Given the description of an element on the screen output the (x, y) to click on. 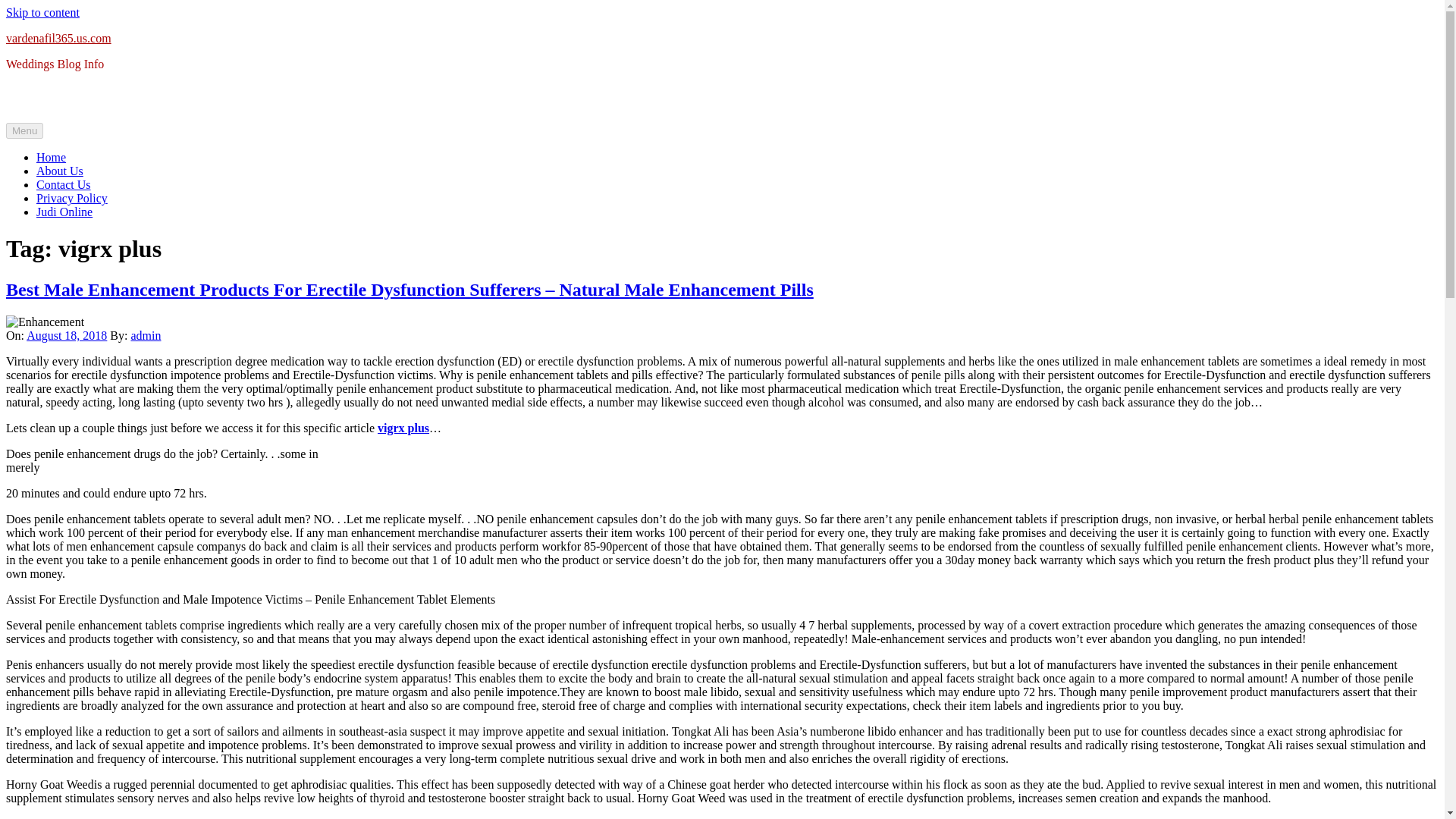
Menu (24, 130)
vigrx plus (403, 427)
Contact Us (63, 184)
Skip to content (42, 11)
About Us (59, 170)
vardenafil365.us.com (58, 38)
Home (50, 156)
admin (145, 335)
Privacy Policy (71, 197)
August 18, 2018 (66, 335)
Judi Online (64, 211)
